Given the description of an element on the screen output the (x, y) to click on. 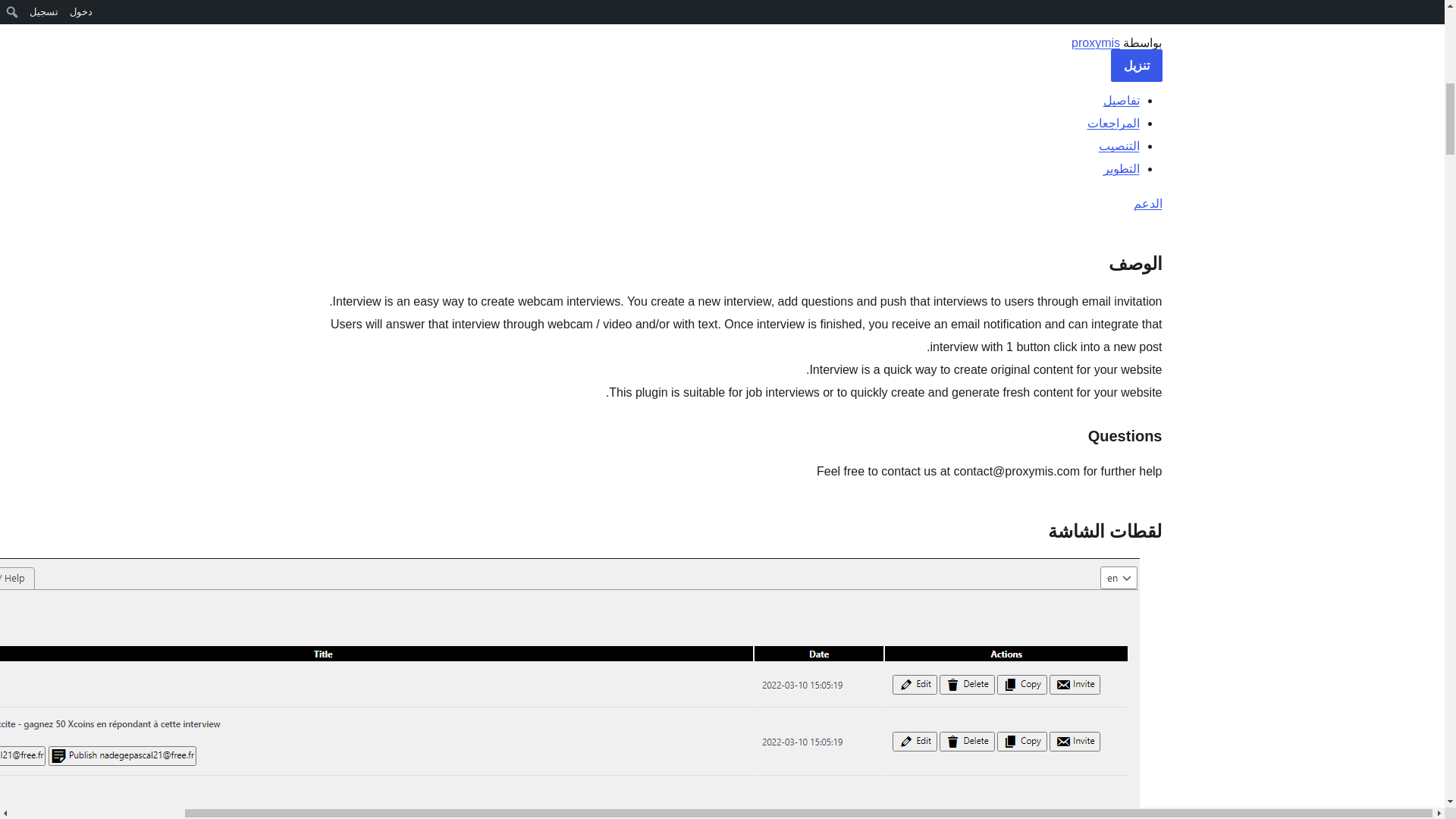
proxymis (1095, 42)
